Given the description of an element on the screen output the (x, y) to click on. 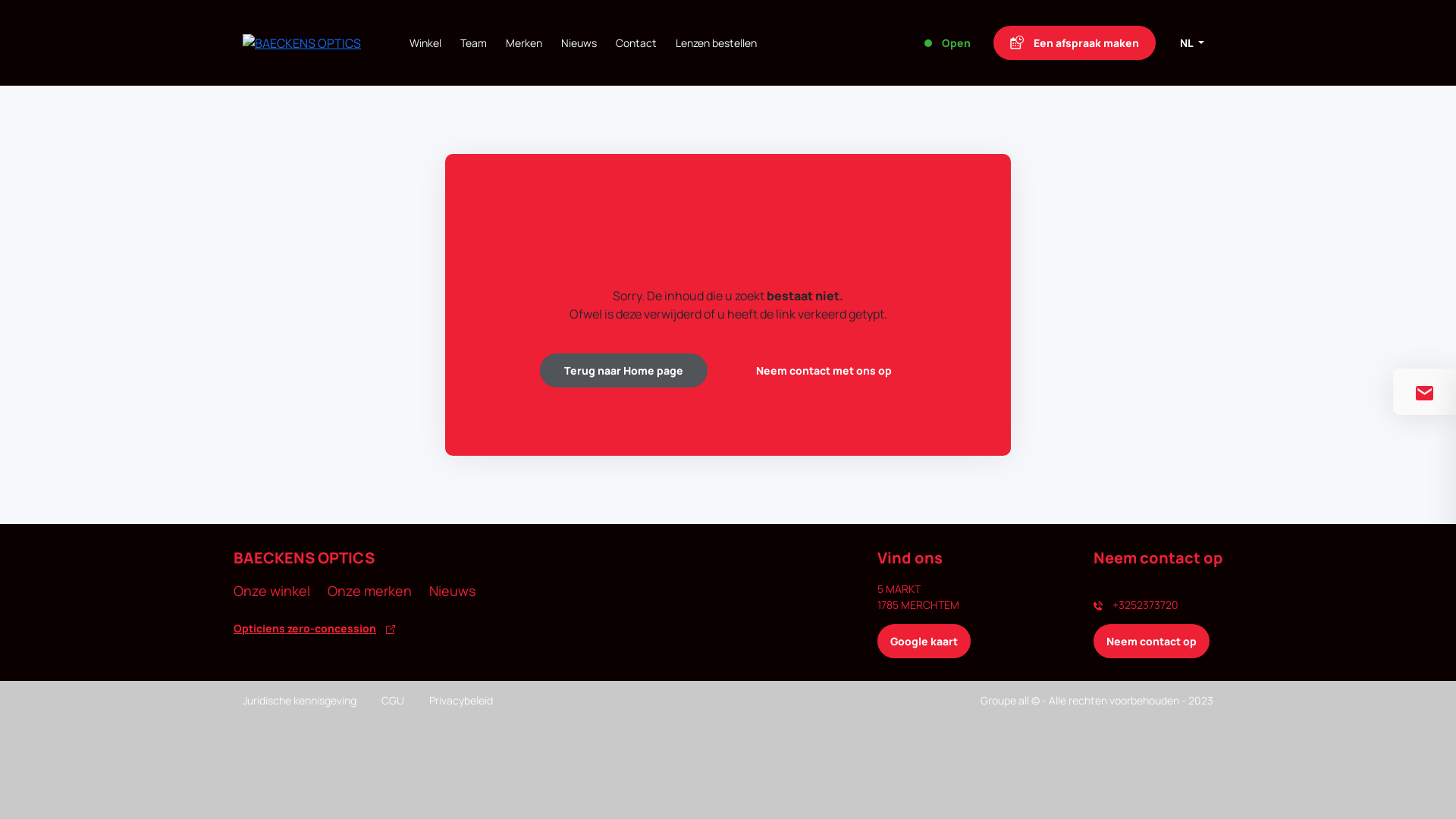
Merken Element type: text (523, 42)
Team Element type: text (473, 42)
Privacybeleid Element type: text (460, 700)
Een afspraak maken Element type: text (1074, 42)
Winkel Element type: text (425, 42)
Nieuws Element type: text (578, 42)
Neem contact op Element type: text (1151, 641)
Terug naar Home page Element type: text (623, 370)
CGU Element type: text (392, 700)
Onze merken Element type: text (369, 590)
Google kaart Element type: text (923, 641)
NL Element type: text (1191, 42)
Neem contact met ons op Element type: text (823, 370)
BAECKENS OPTICS Element type: hover (301, 42)
Opticiens zero-concession Element type: text (475, 628)
Contact Element type: text (635, 42)
Nieuws Element type: text (452, 590)
Lenzen bestellen Element type: text (715, 42)
Juridische kennisgeving Element type: text (299, 700)
Onze winkel Element type: text (271, 590)
